Given the description of an element on the screen output the (x, y) to click on. 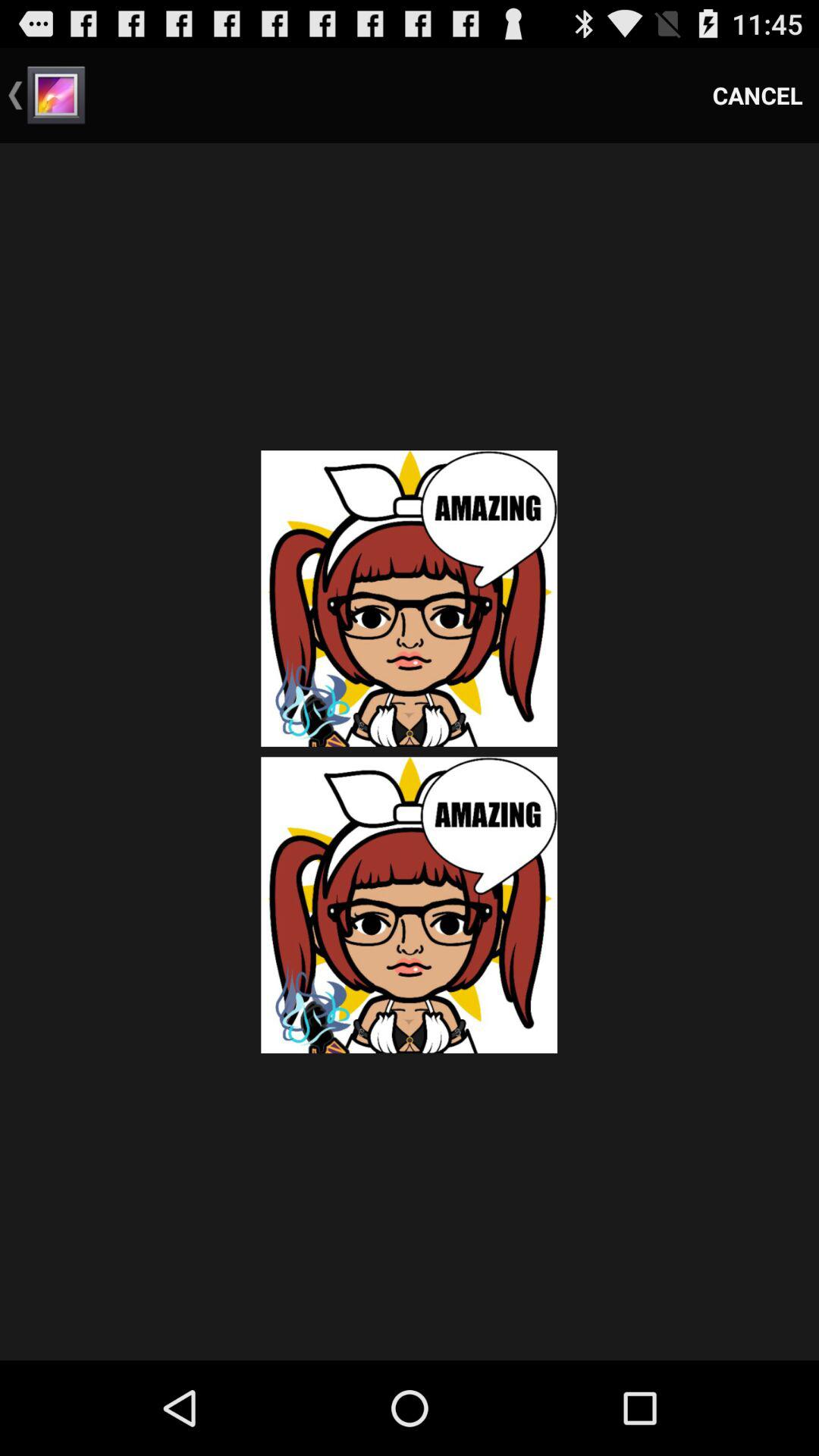
flip to cancel icon (757, 95)
